Given the description of an element on the screen output the (x, y) to click on. 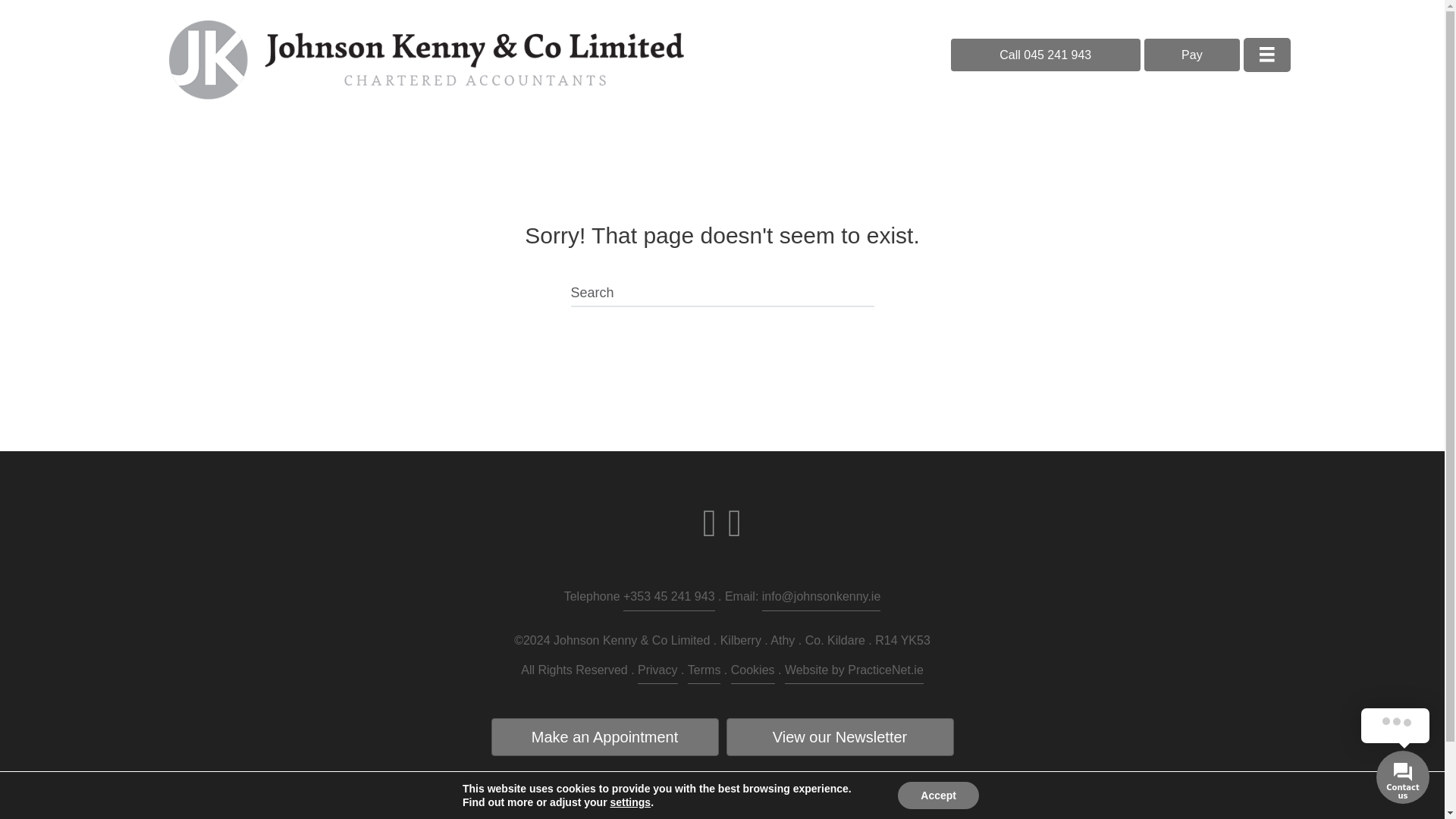
Call 045 241 943 (1045, 54)
ACCA LOGO RED (749, 802)
uabb-menu-toggle (1266, 54)
Make an Appointment (605, 736)
Privacy (657, 672)
Johnson-Kenny-and-Co-logo (426, 59)
Type and press Enter to search. (721, 294)
Pay (1192, 54)
View our Newsletter (839, 736)
Search (721, 294)
